Given the description of an element on the screen output the (x, y) to click on. 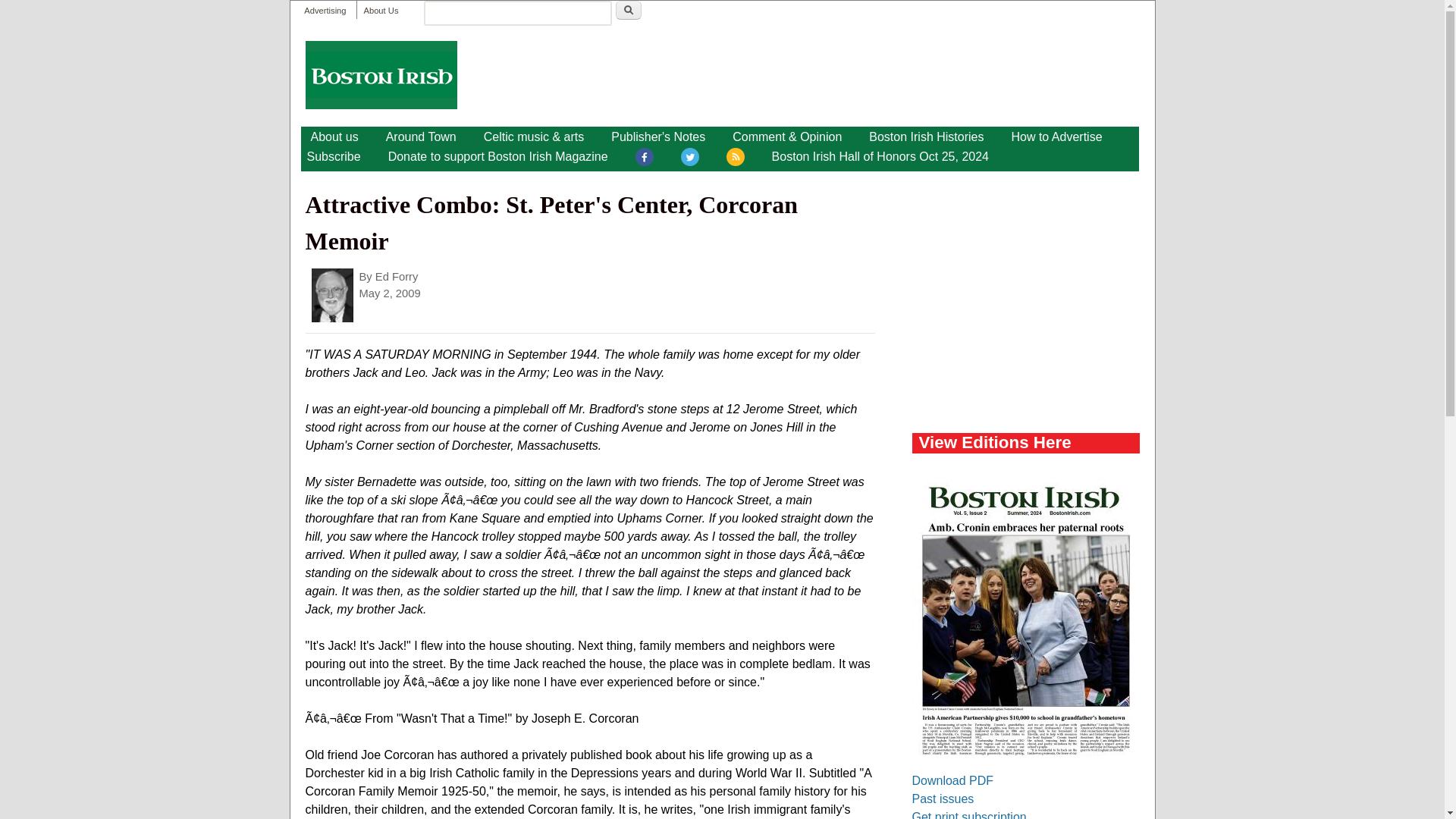
Boston Irish Reporter on Twitter (689, 159)
About us (334, 136)
Boston Irish Histories (926, 136)
Search (628, 9)
By BI Magazine staff (421, 136)
Around Town (421, 136)
Donate to support Boston Irish Magazine (497, 157)
Publisher's Notes (658, 136)
3rd party ad content (1024, 296)
How to Advertise (1056, 136)
Enter the terms you wish to search for. (517, 12)
Past issues (942, 798)
Subscribe (332, 157)
Boston Irish Hall of Honors Oct 25, 2024 (879, 157)
3rd party ad content (862, 74)
